Given the description of an element on the screen output the (x, y) to click on. 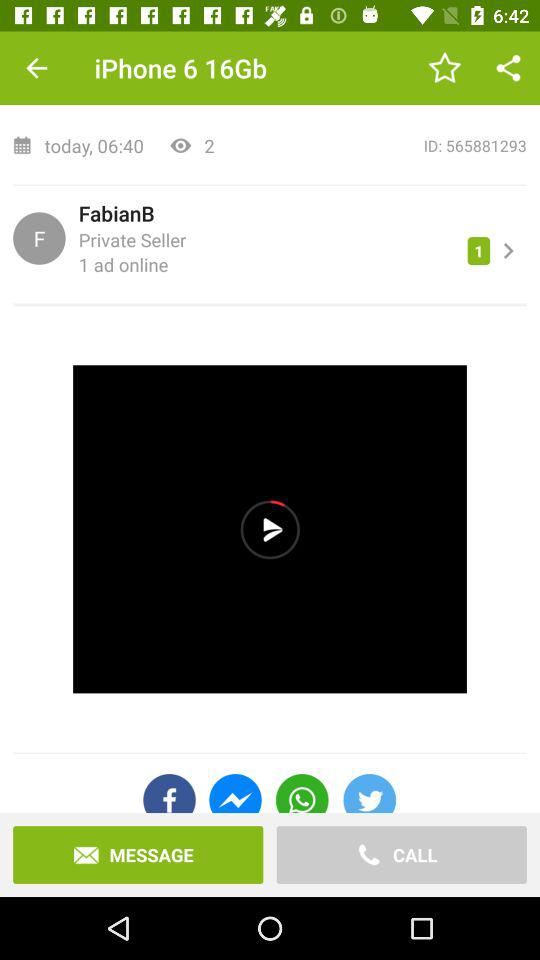
select icon above the today, 06:40 (270, 69)
